Given the description of an element on the screen output the (x, y) to click on. 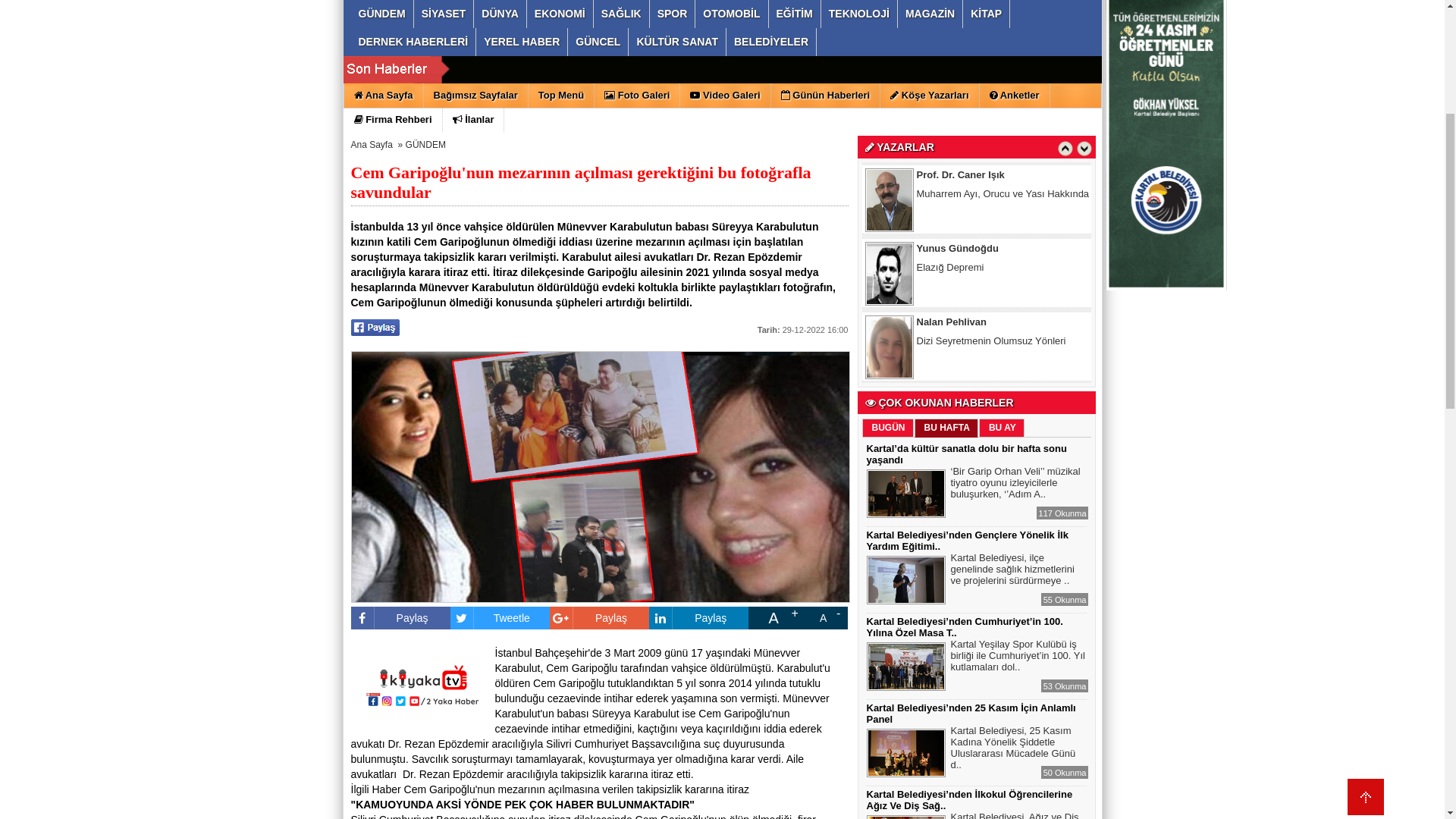
SPOR Element type: text (672, 298)
Twitter Tweet Button Element type: hover (490, 611)
Reklam Element type: text (999, 133)
Ana Sayfa Element type: text (820, 133)
Anketler Element type: text (1014, 379)
YEREL HABER Element type: text (521, 326)
Ana Sayfa Element type: text (371, 429)
Firma Rehberi Element type: text (393, 404)
Foto Galeri Element type: text (637, 379)
ANASAYFA Element type: hover (515, 199)
Ana Sayfa Element type: text (383, 379)
RSS Element type: text (960, 133)
Video Galeri Element type: text (725, 379)
Bir Olabilmek Element type: text (945, 551)
